Given the description of an element on the screen output the (x, y) to click on. 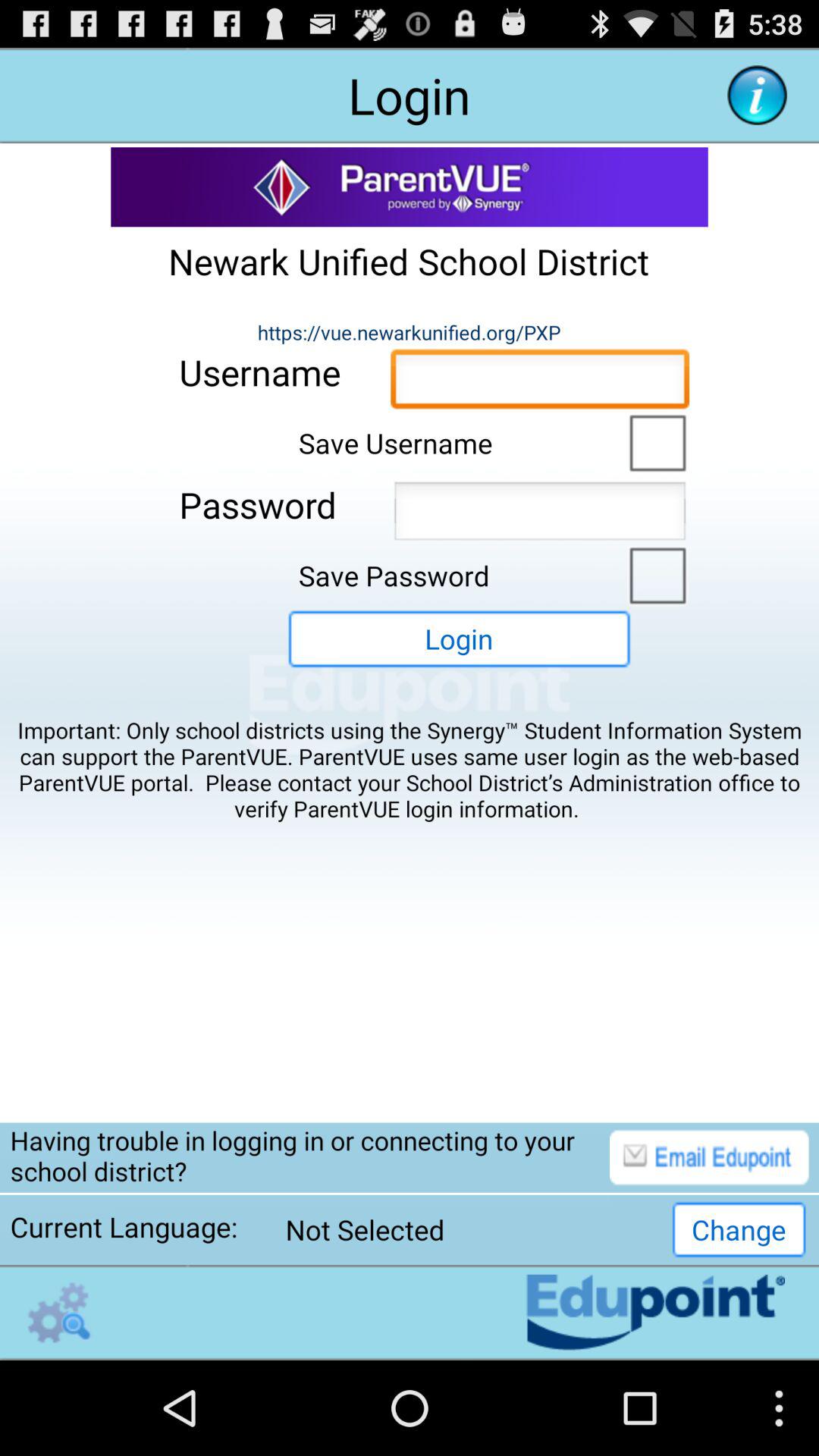
password (539, 515)
